Given the description of an element on the screen output the (x, y) to click on. 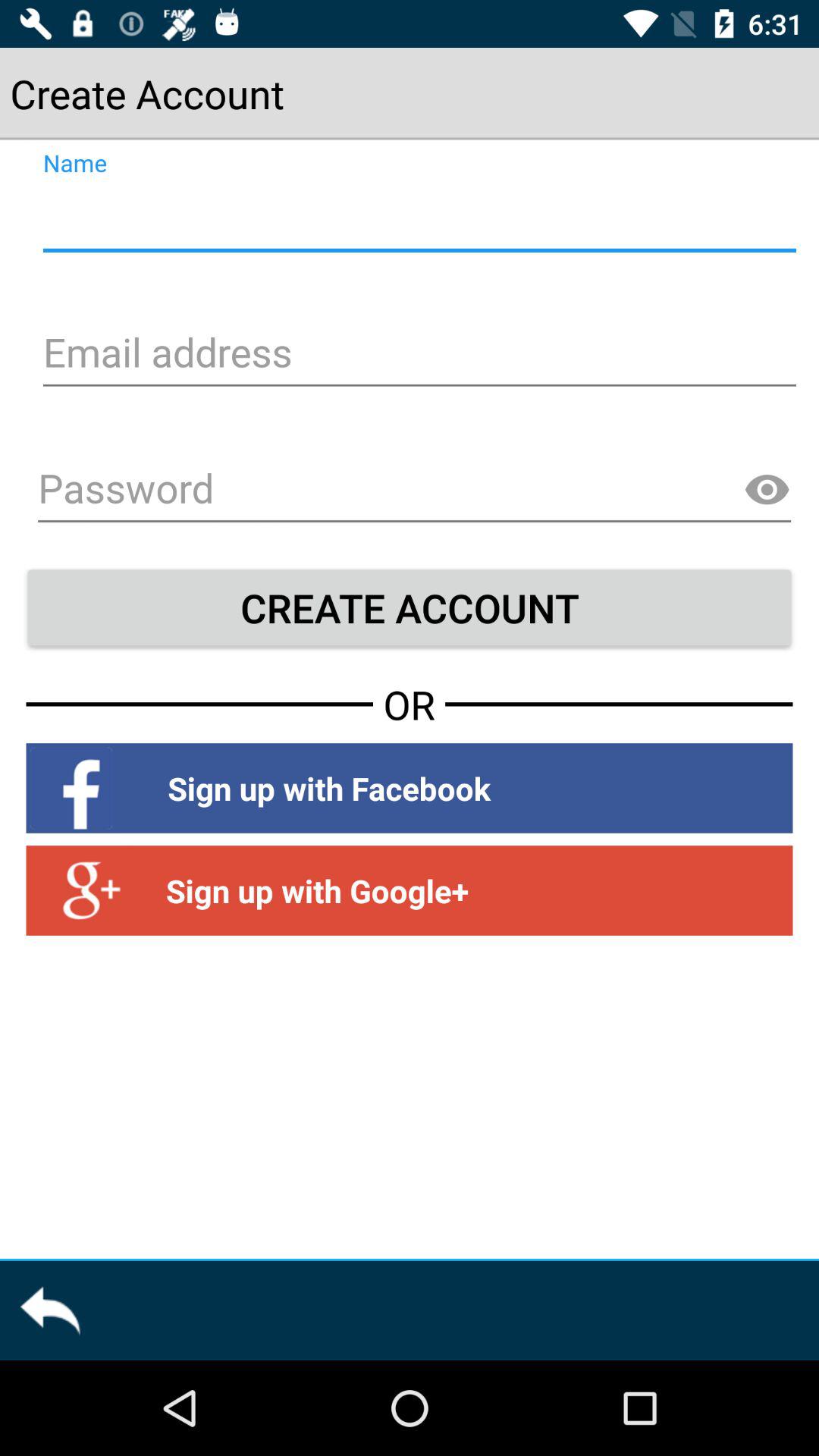
select the icon above create account item (414, 490)
